Given the description of an element on the screen output the (x, y) to click on. 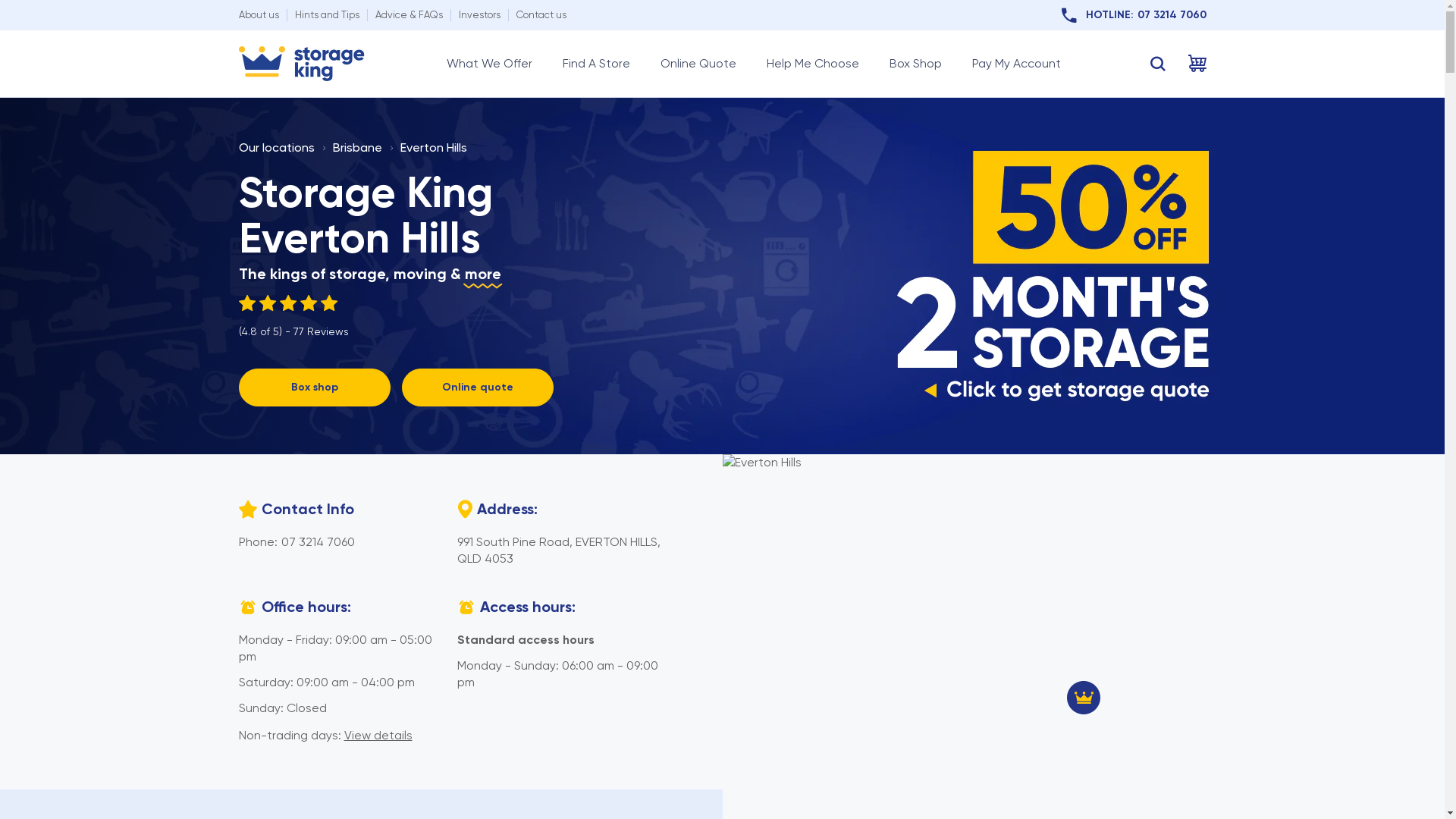
Everton Hills Element type: text (433, 147)
Help Me Choose Element type: text (811, 63)
Find A Store Element type: text (596, 63)
Our locations Element type: text (275, 147)
Box shop Element type: text (313, 387)
Pay My Account Element type: text (1016, 63)
About us Element type: text (258, 15)
4.80 Element type: hover (293, 303)
Online quote Element type: text (477, 387)
Advice & FAQs Element type: text (408, 15)
Box Shop Element type: text (914, 63)
What We Offer Element type: text (488, 63)
991 South Pine Road, EVERTON HILLS, QLD 4053 Element type: text (557, 549)
07 3214 7060 Element type: text (317, 541)
View details Element type: text (378, 735)
Brisbane Element type: text (356, 147)
(4.8 of 5) - 77 Reviews Element type: text (293, 316)
Investors Element type: text (478, 15)
Hints and Tips Element type: text (326, 15)
HOTLINE:
07 3214 7060 Element type: text (1133, 14)
Contact us Element type: text (540, 15)
Online Quote Element type: text (697, 63)
